Given the description of an element on the screen output the (x, y) to click on. 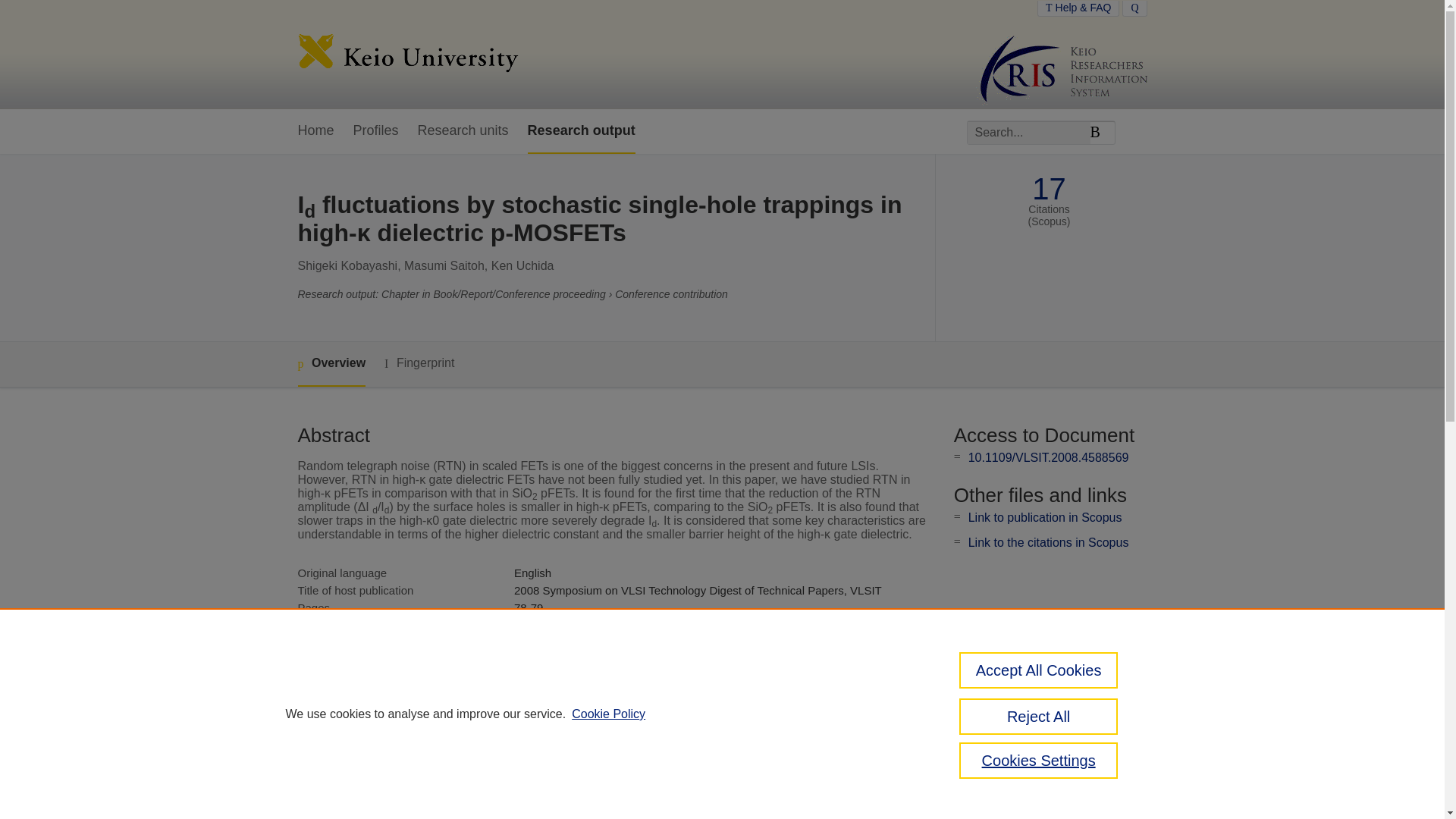
17 (1048, 189)
Link to the citations in Scopus (1048, 542)
Profiles (375, 130)
Fingerprint (419, 363)
Overview (331, 364)
Cookie Policy (608, 713)
Research output (580, 130)
Keio University Home (407, 54)
Research units (462, 130)
Link to publication in Scopus (1045, 517)
